Given the description of an element on the screen output the (x, y) to click on. 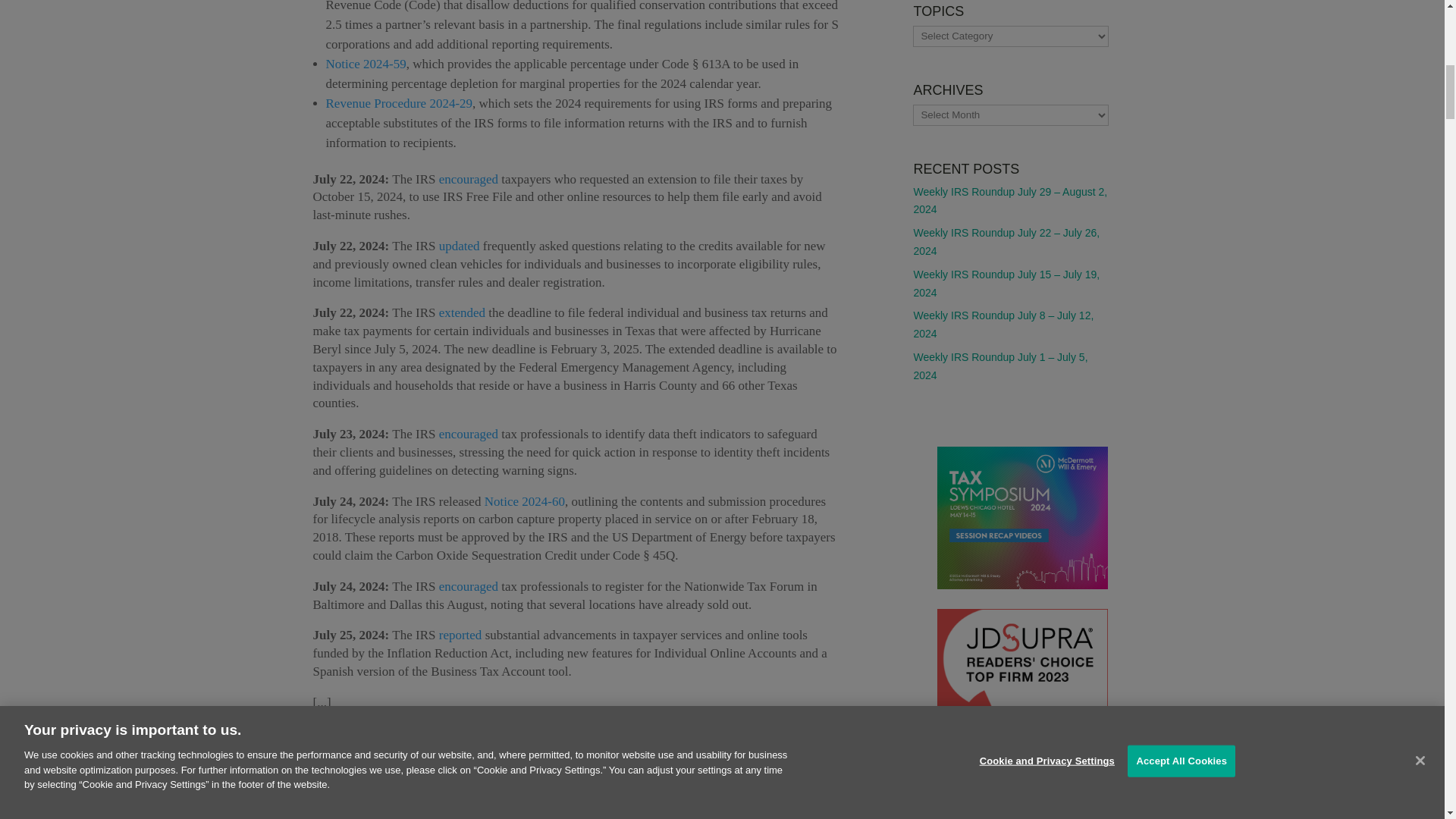
Share on LinkedIn (445, 795)
Share on X (384, 795)
Print (324, 795)
Share on Facebook (415, 795)
E-Mail (354, 795)
